Given the description of an element on the screen output the (x, y) to click on. 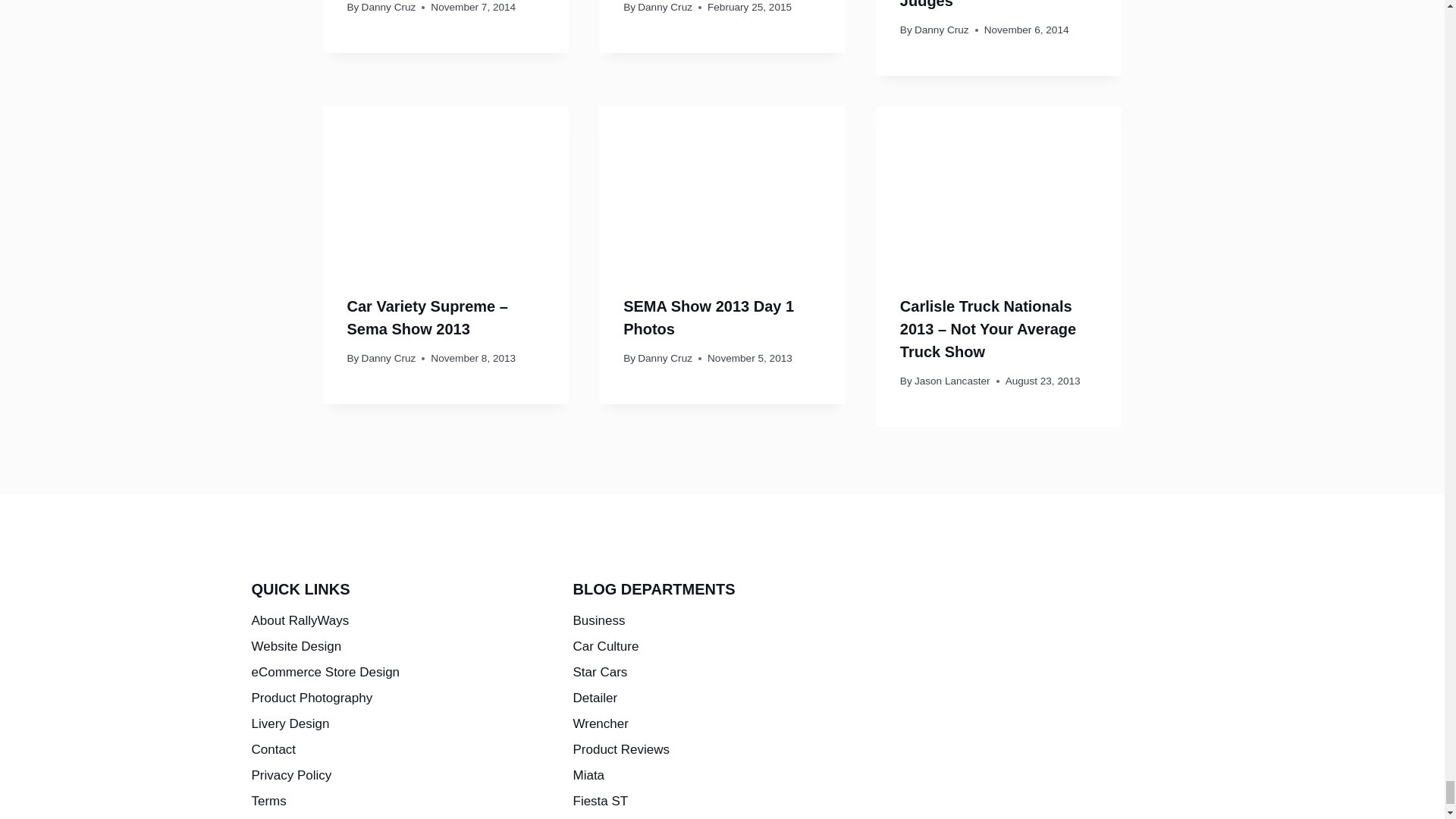
RallyWays Circle Logo (1042, 698)
